Given the description of an element on the screen output the (x, y) to click on. 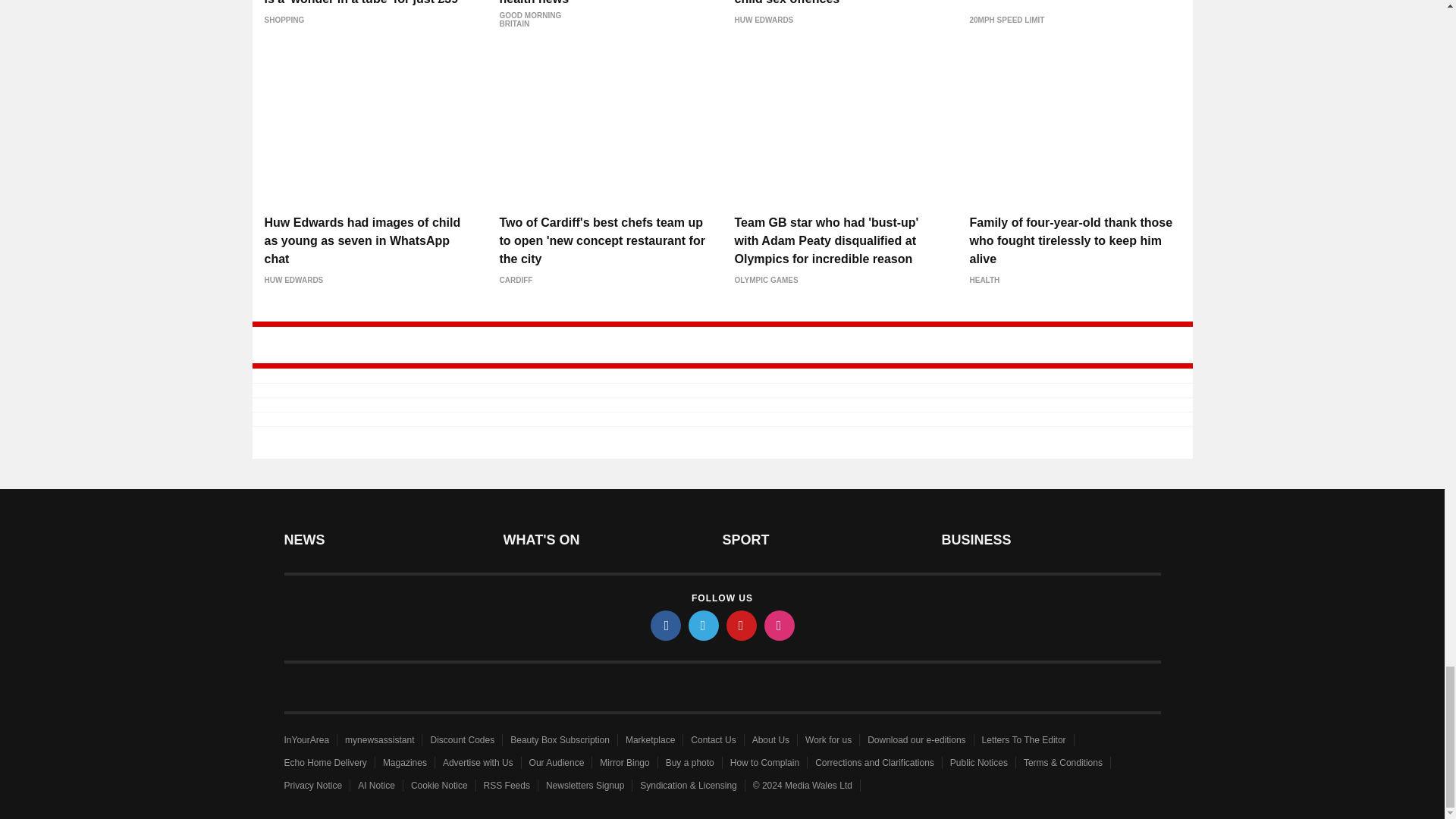
facebook (665, 625)
pinterest (741, 625)
instagram (779, 625)
twitter (703, 625)
